Given the description of an element on the screen output the (x, y) to click on. 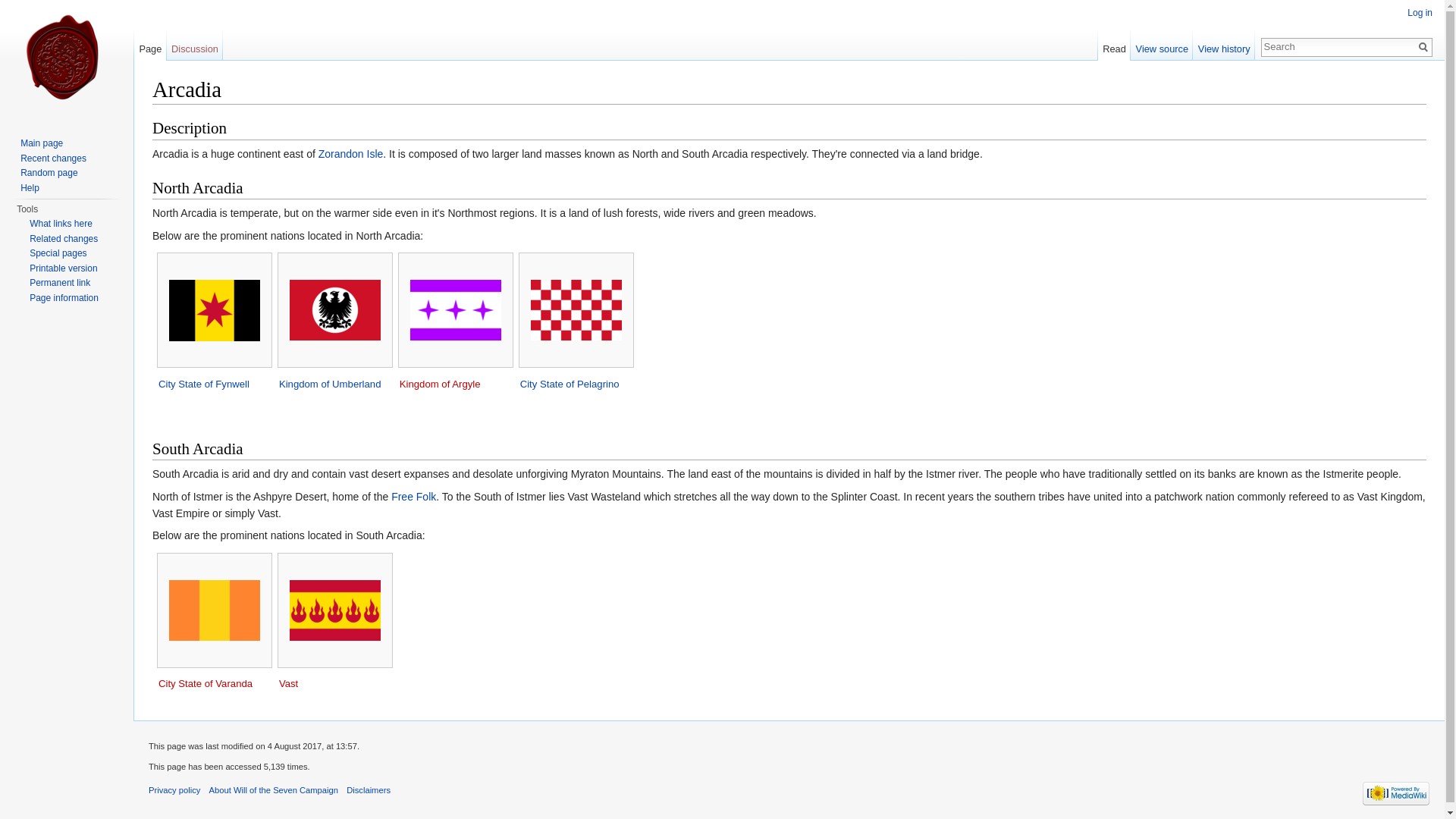
City State of Varanda (204, 683)
City State of Pelagrino (569, 383)
City State of Fynwell (203, 383)
Visit the main page (66, 60)
Main page (41, 143)
Vast (288, 683)
Pelagrino (569, 383)
Help (29, 186)
Zorandon Isle (351, 153)
Free Folk (413, 496)
Page information (64, 297)
Zorandon Isle (351, 153)
Kingdom of Umberland (330, 383)
View source (1161, 45)
Privacy policy (174, 789)
